Given the description of an element on the screen output the (x, y) to click on. 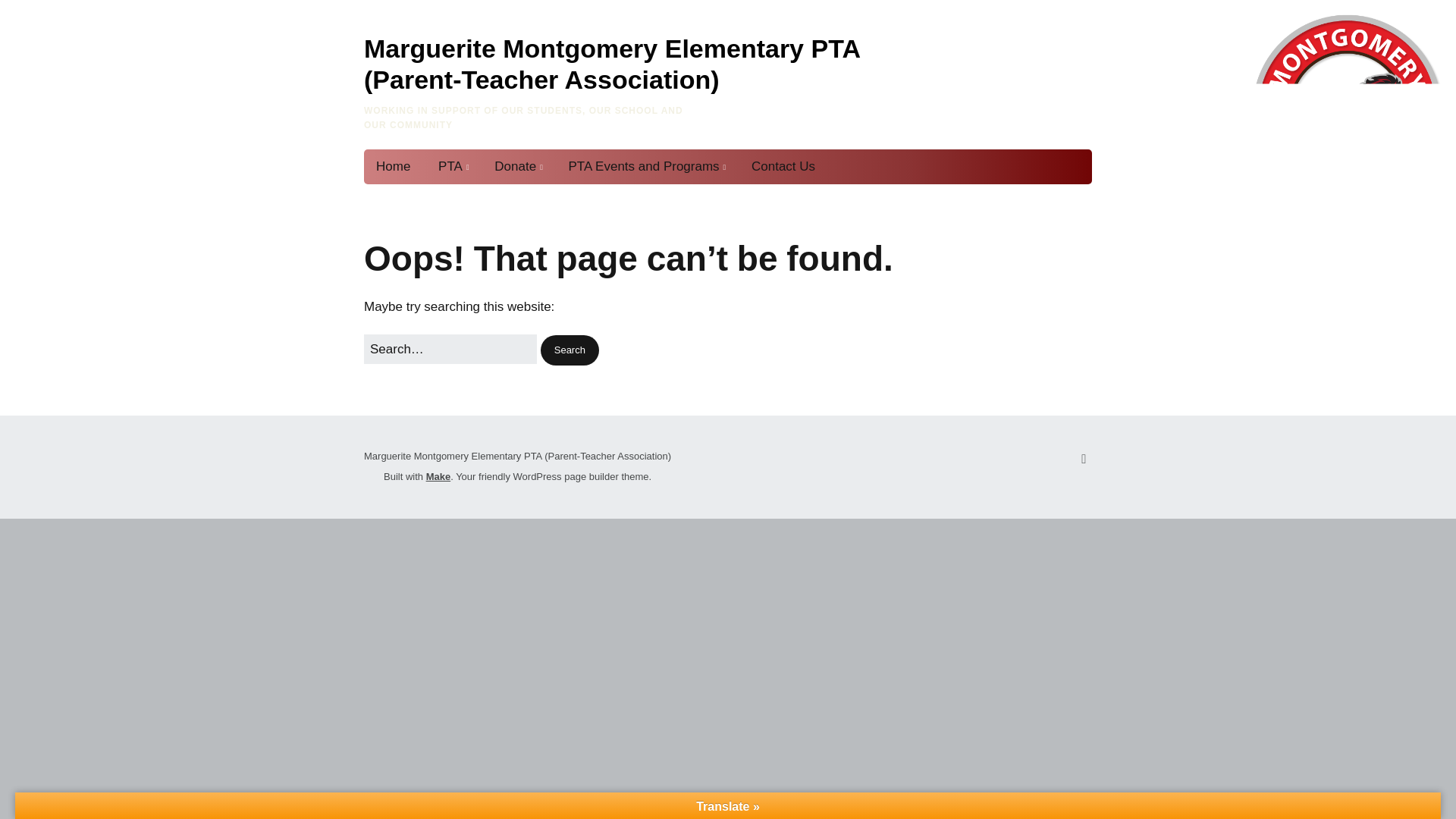
Press Enter to submit your search (450, 348)
PTA (452, 166)
Home (393, 166)
Contact Us (783, 166)
Donate (516, 166)
Search (569, 350)
Become A Member (507, 203)
Donate! (563, 203)
Search (569, 350)
Search (569, 350)
Make (438, 476)
PTA Events and Programs (646, 166)
Pony Express (652, 203)
